Given the description of an element on the screen output the (x, y) to click on. 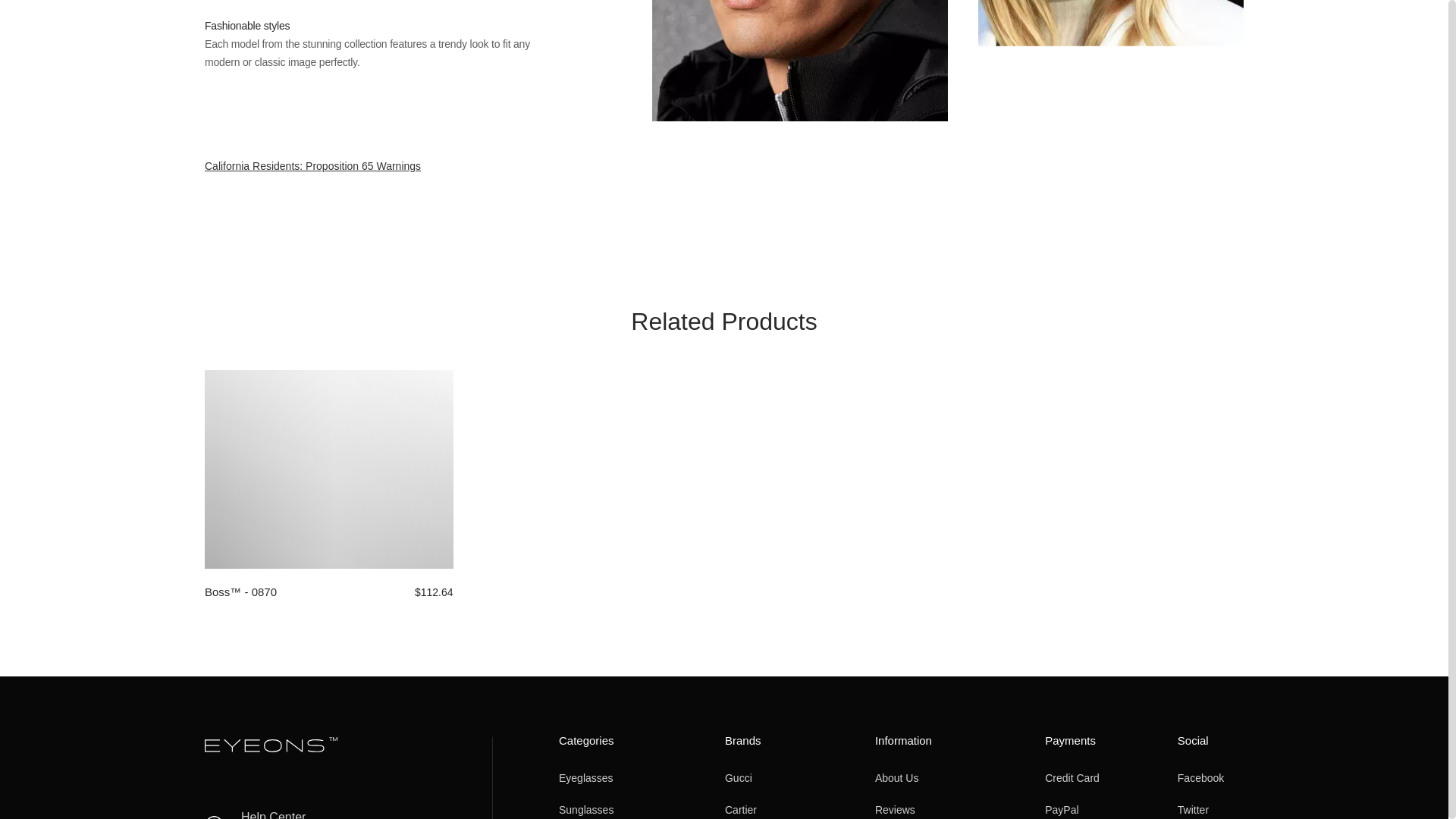
EyeOns.com (271, 748)
